Given the description of an element on the screen output the (x, y) to click on. 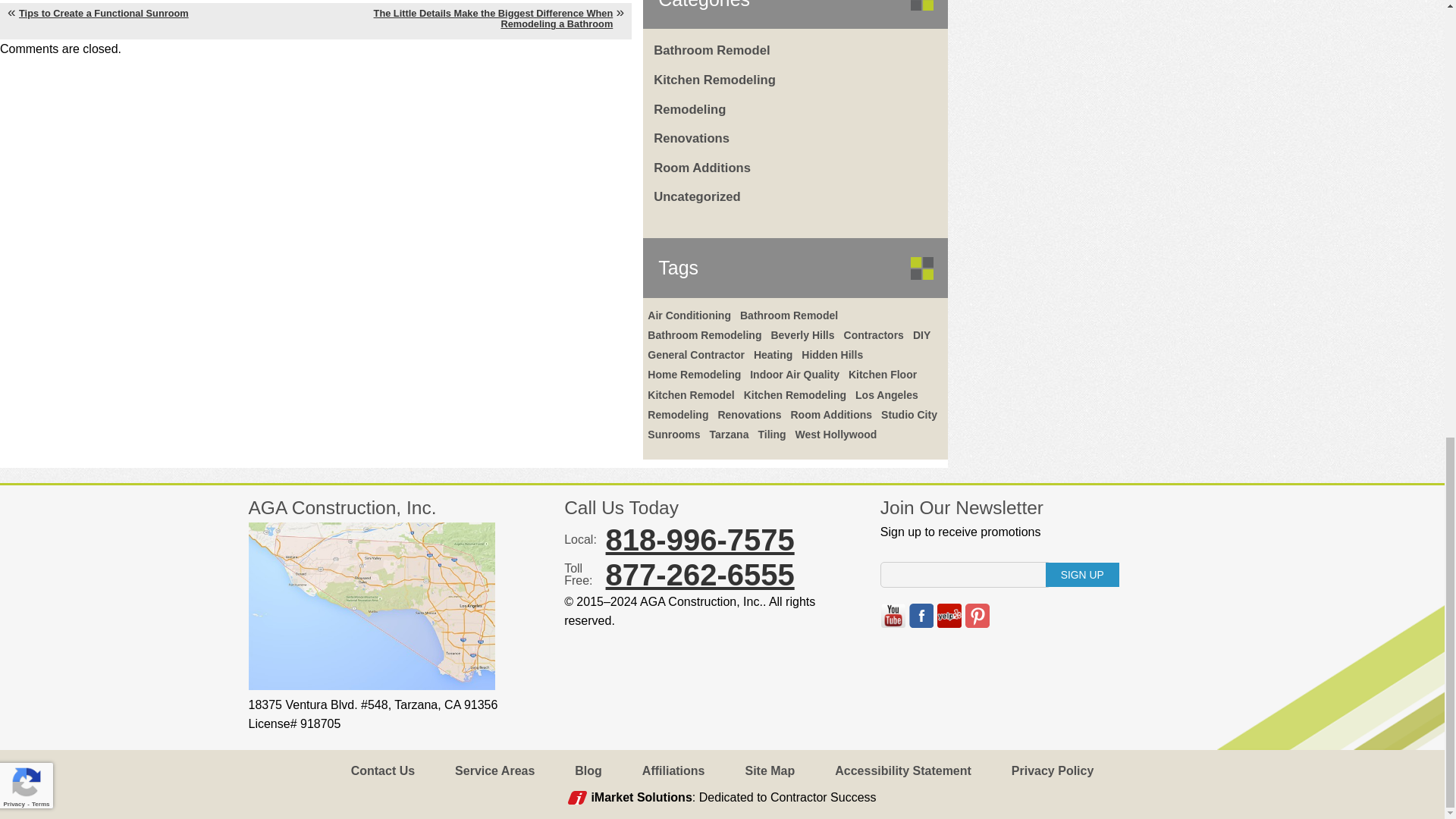
View a map of our service areas (371, 686)
